Given the description of an element on the screen output the (x, y) to click on. 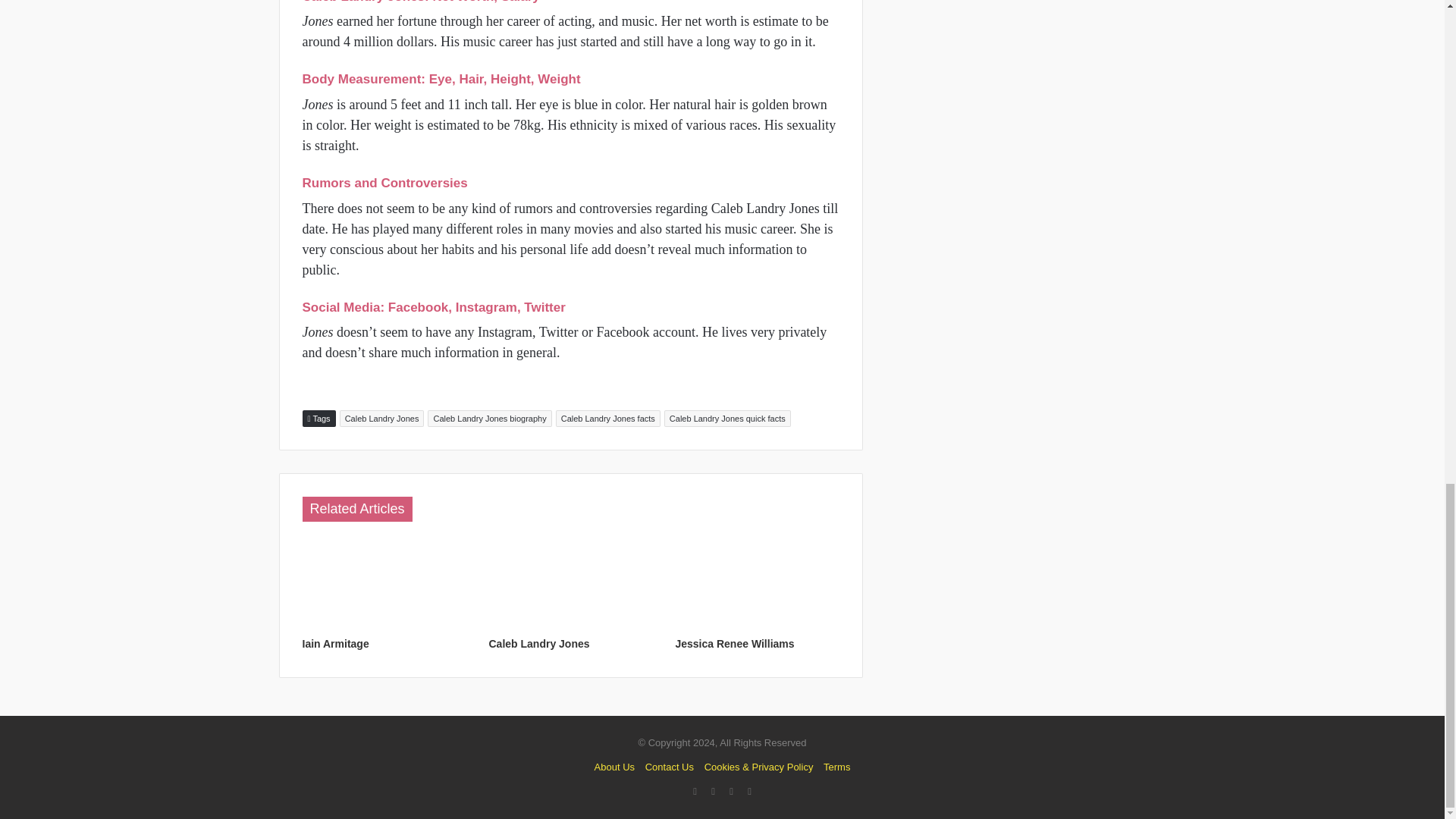
Caleb Landry Jones biography (489, 418)
Caleb Landry Jones facts (608, 418)
Caleb Landry Jones quick facts (726, 418)
Caleb Landry Jones (382, 418)
Iain Armitage (334, 644)
Caleb Landry Jones (538, 644)
Jessica Renee Williams (734, 644)
